Given the description of an element on the screen output the (x, y) to click on. 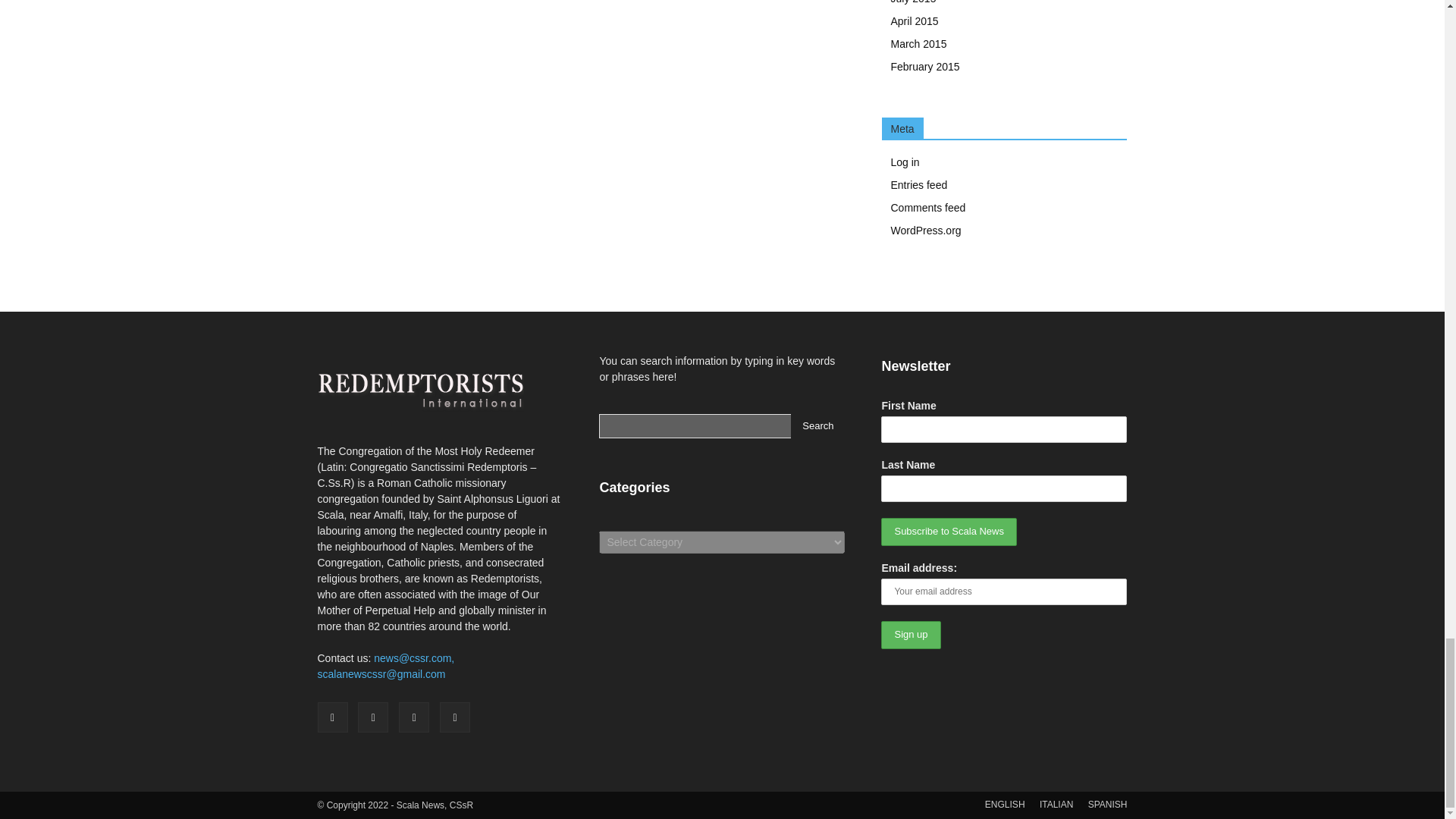
Subscribe to Scala News (948, 531)
Sign up (910, 634)
Search (817, 426)
